Given the description of an element on the screen output the (x, y) to click on. 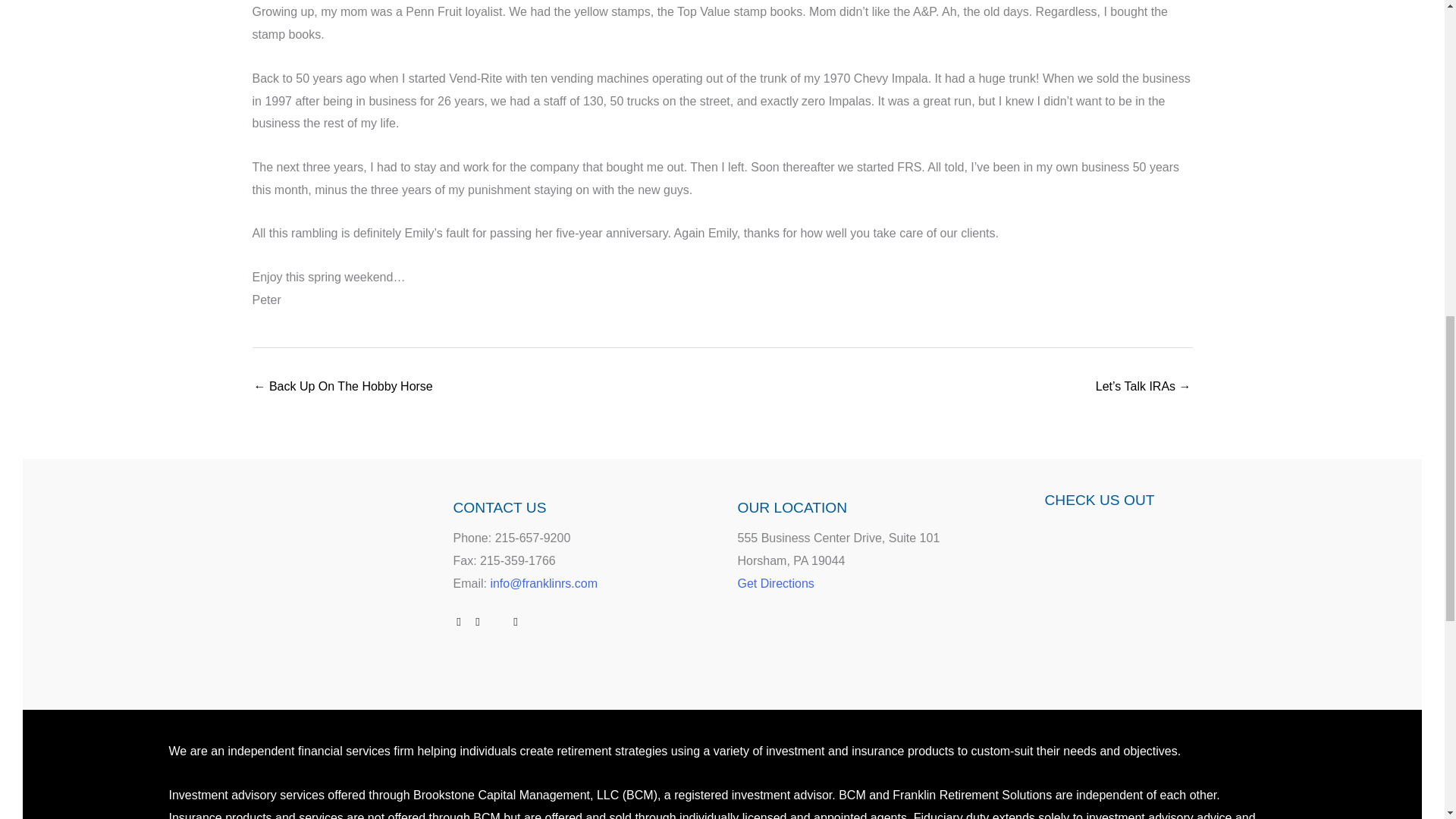
Get Directions (774, 583)
bluesky blk (534, 621)
